Given the description of an element on the screen output the (x, y) to click on. 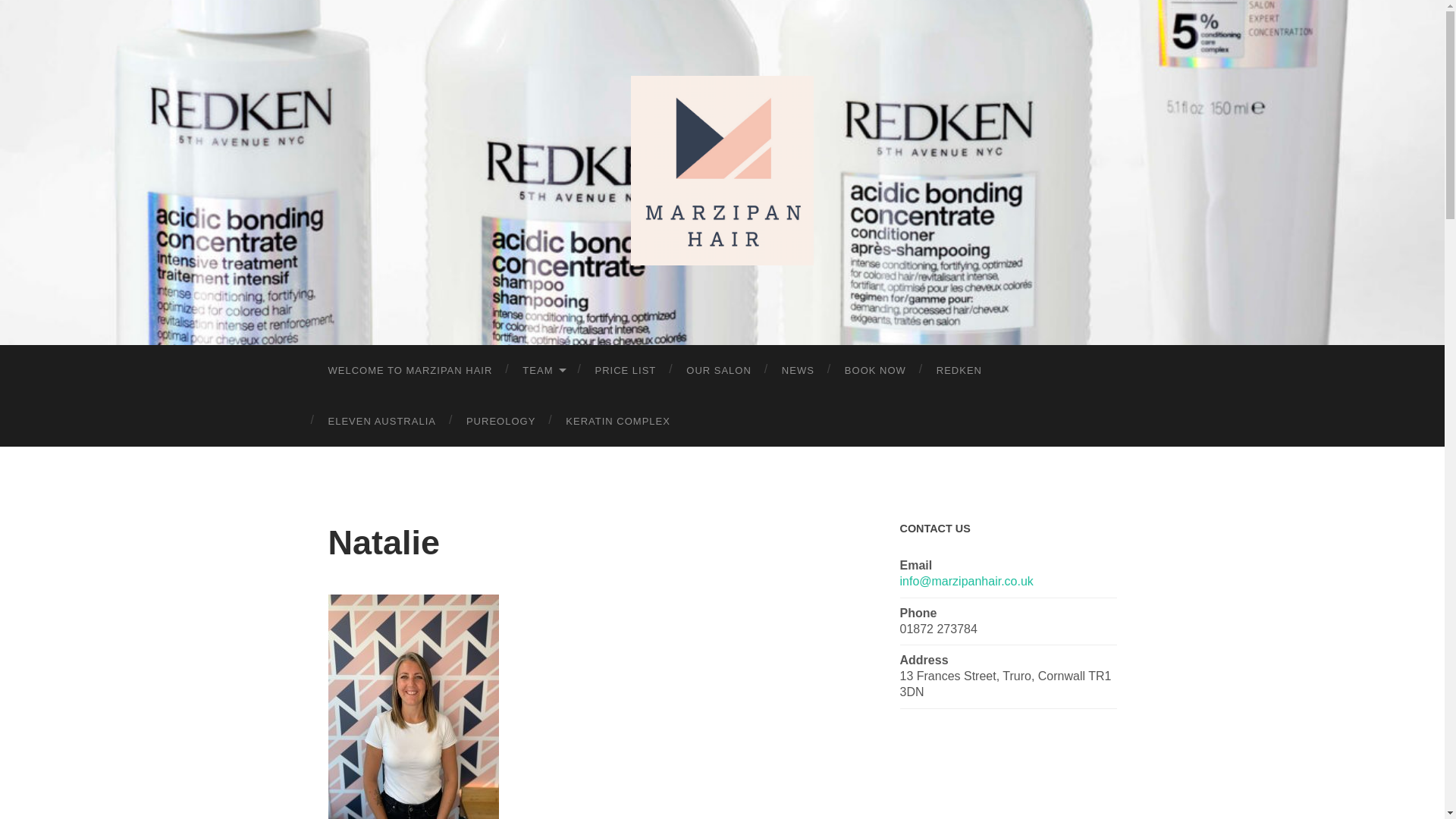
PUREOLOGY (500, 420)
Marzipan Hair (721, 170)
BOOK NOW (875, 369)
WELCOME TO MARZIPAN HAIR (409, 369)
REDKEN (959, 369)
NEWS (798, 369)
OUR SALON (719, 369)
PRICE LIST (625, 369)
TEAM (542, 369)
KERATIN COMPLEX (617, 420)
